Given the description of an element on the screen output the (x, y) to click on. 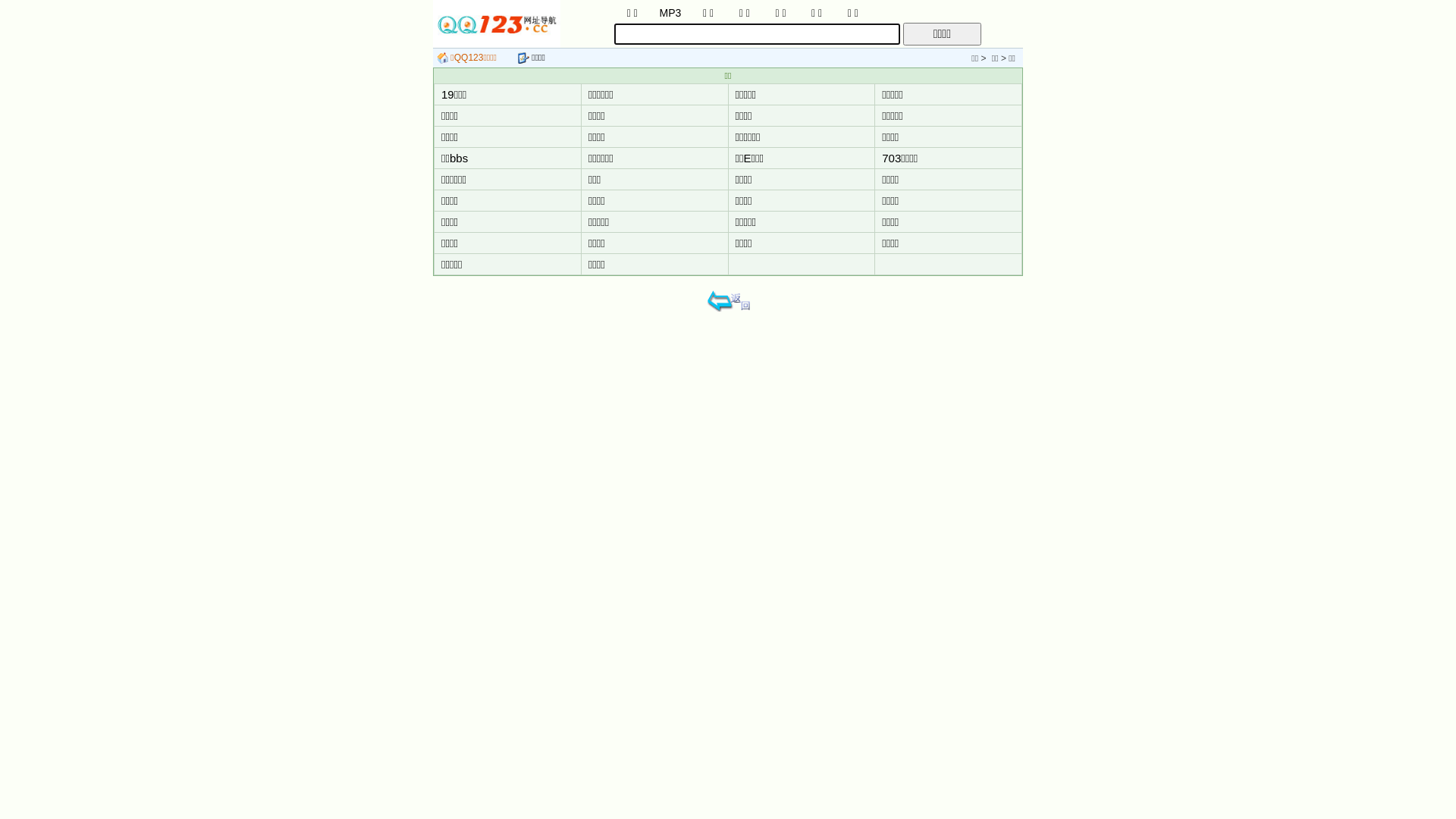
MP3 Element type: text (669, 11)
